Given the description of an element on the screen output the (x, y) to click on. 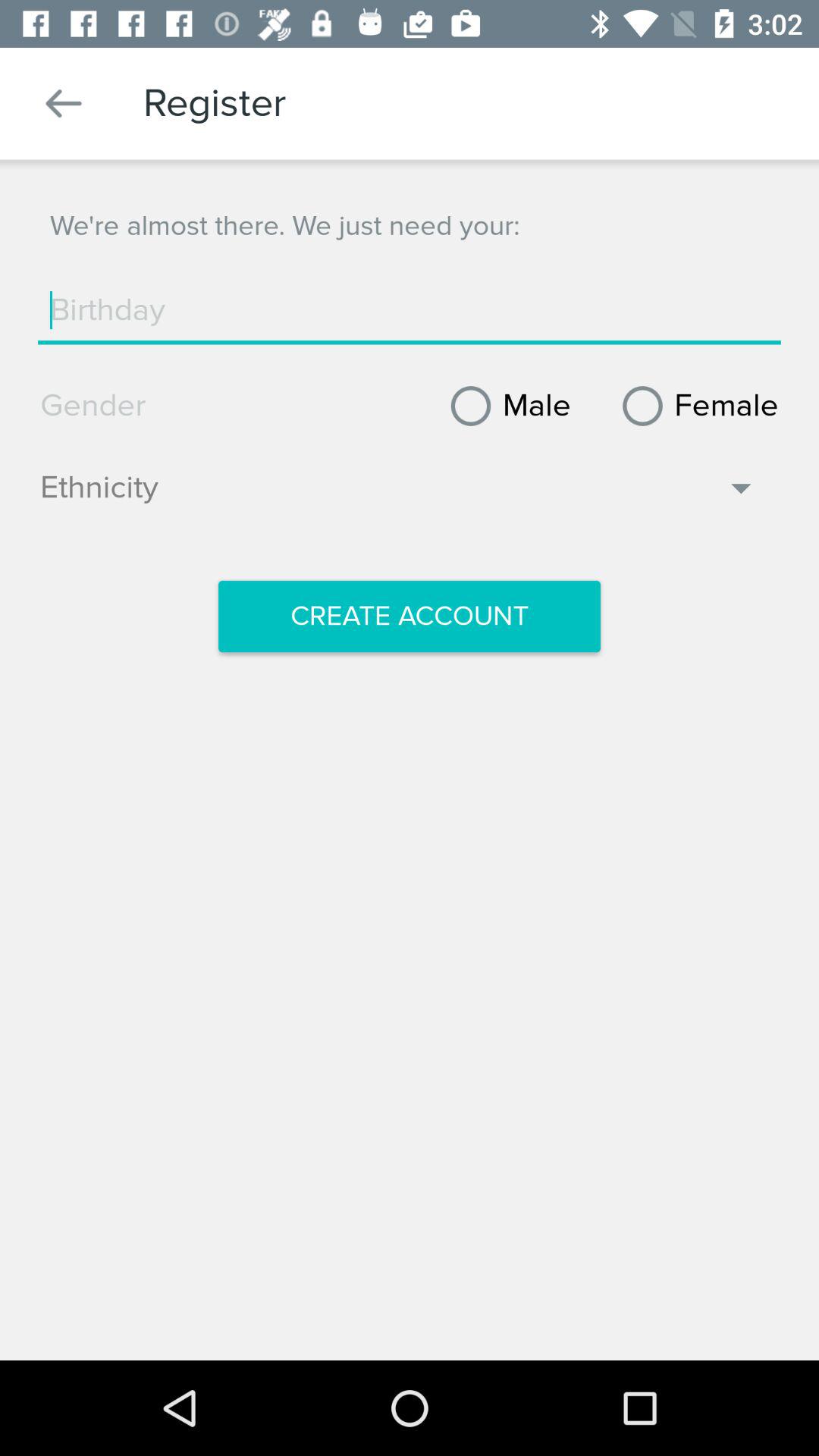
select create account (409, 616)
